Given the description of an element on the screen output the (x, y) to click on. 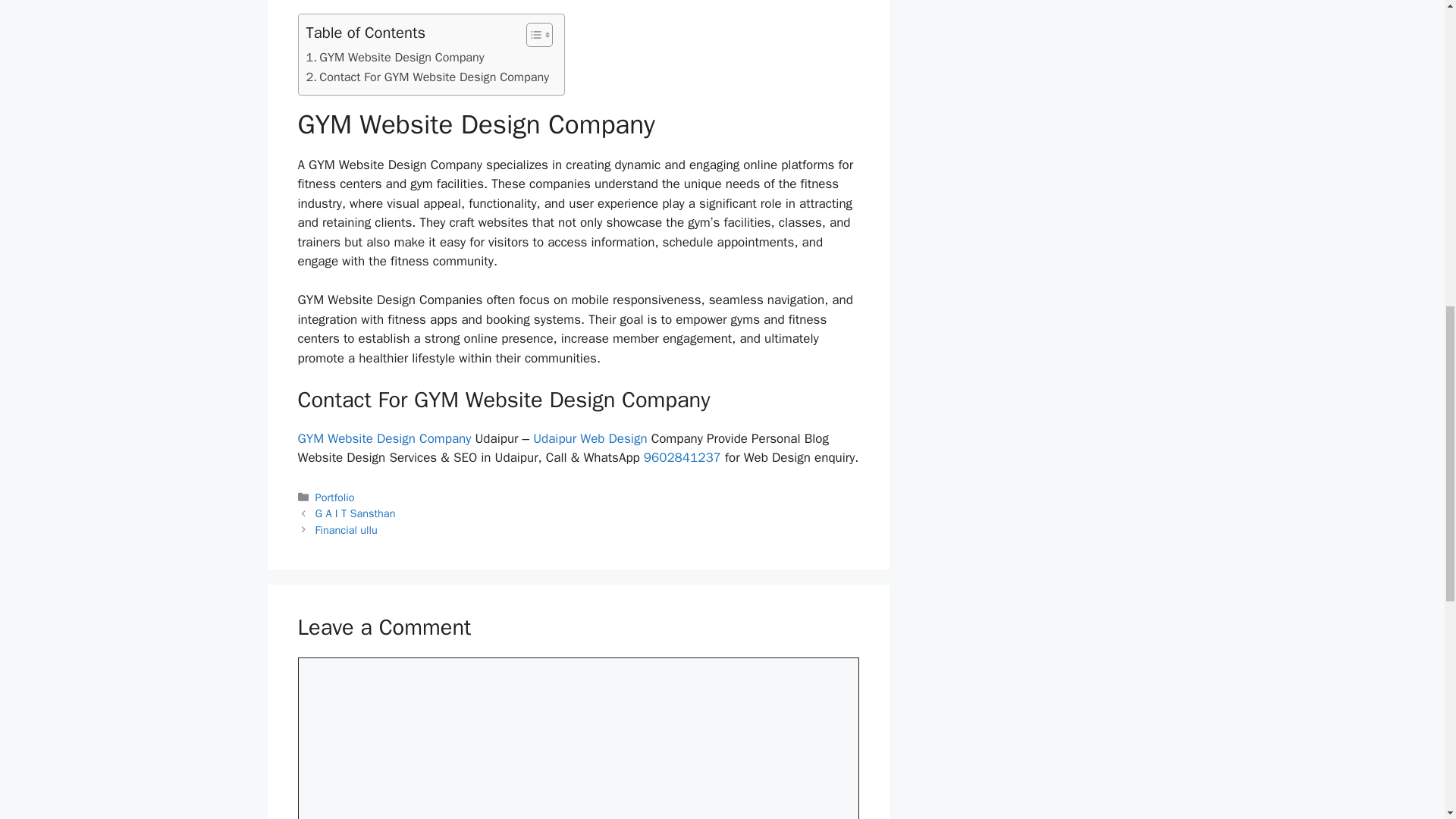
Udaipur Web Design (589, 438)
9602841237 (681, 457)
G A I T Sansthan (355, 513)
GYM Website Design Company (394, 57)
GYM Website Design Company (383, 438)
GYM Website Design Company (394, 57)
Financial ullu (346, 530)
Scroll back to top (1406, 720)
Contact For GYM Website Design Company (426, 76)
Portfolio (335, 497)
